Given the description of an element on the screen output the (x, y) to click on. 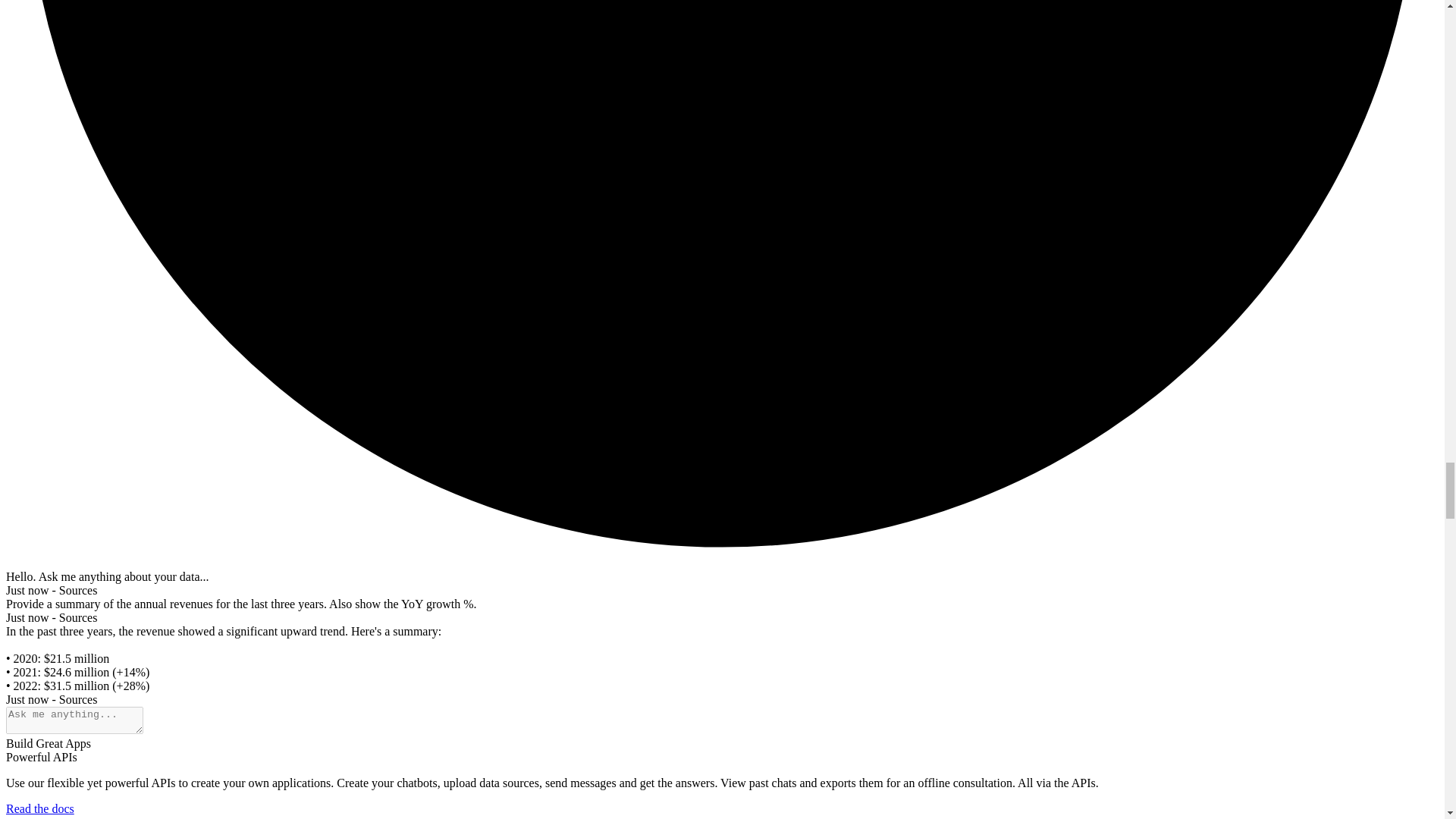
Read the docs (39, 808)
Sources (78, 698)
Sources (78, 617)
Sources (78, 590)
